Given the description of an element on the screen output the (x, y) to click on. 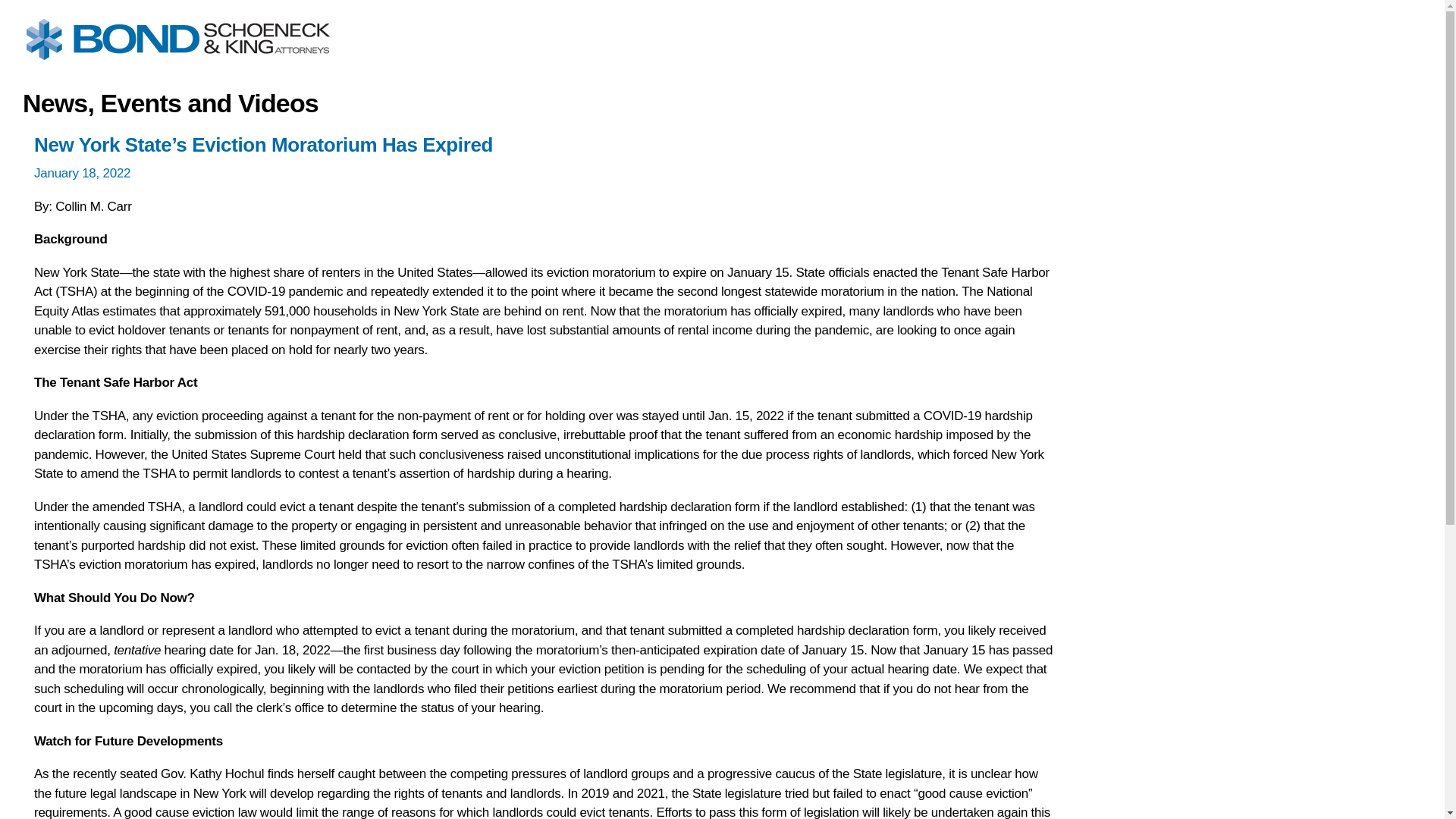
Collin M. Carr (93, 206)
Back to Home Page (170, 74)
